Given the description of an element on the screen output the (x, y) to click on. 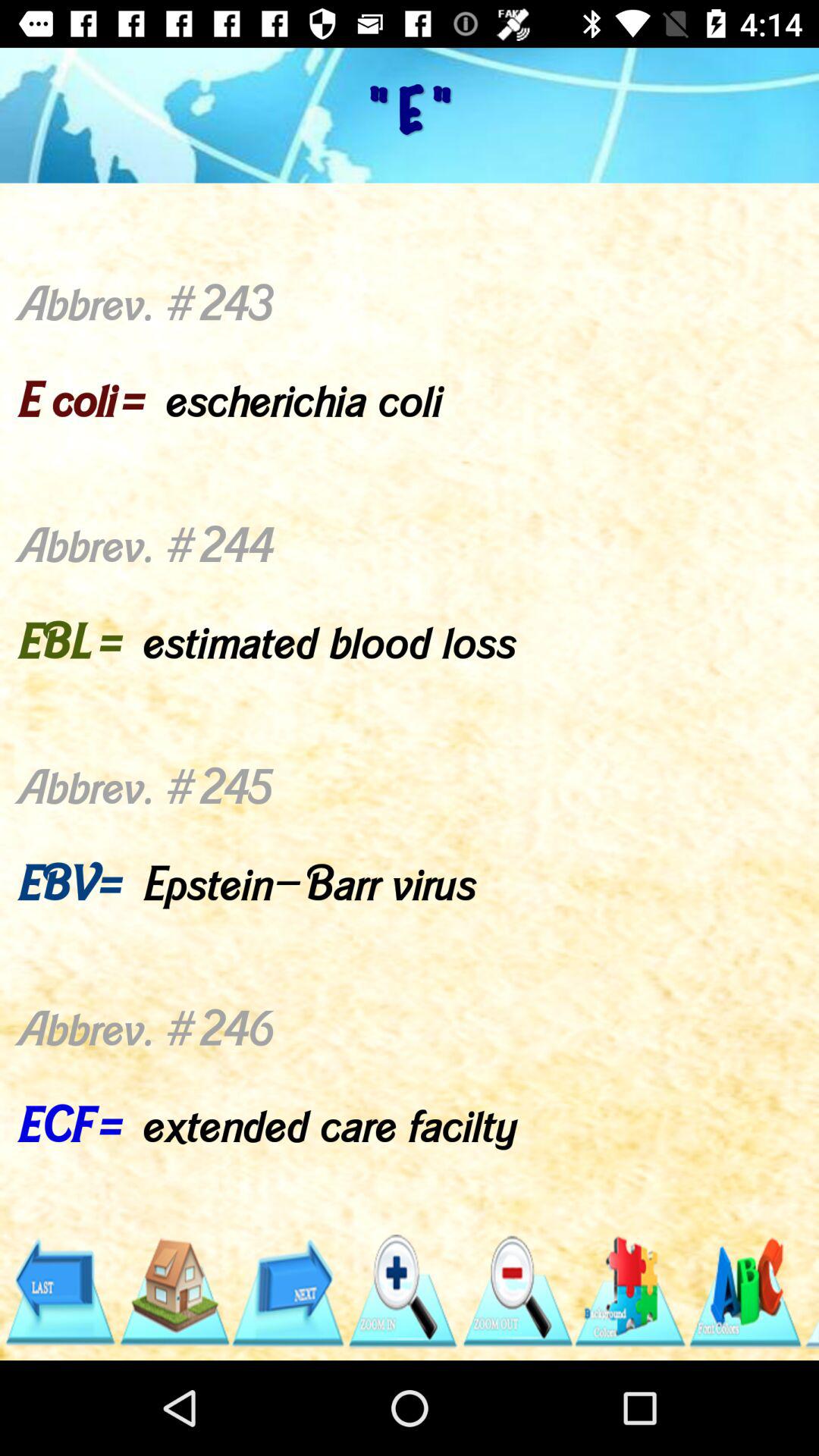
click to zoom-in (402, 1291)
